Given the description of an element on the screen output the (x, y) to click on. 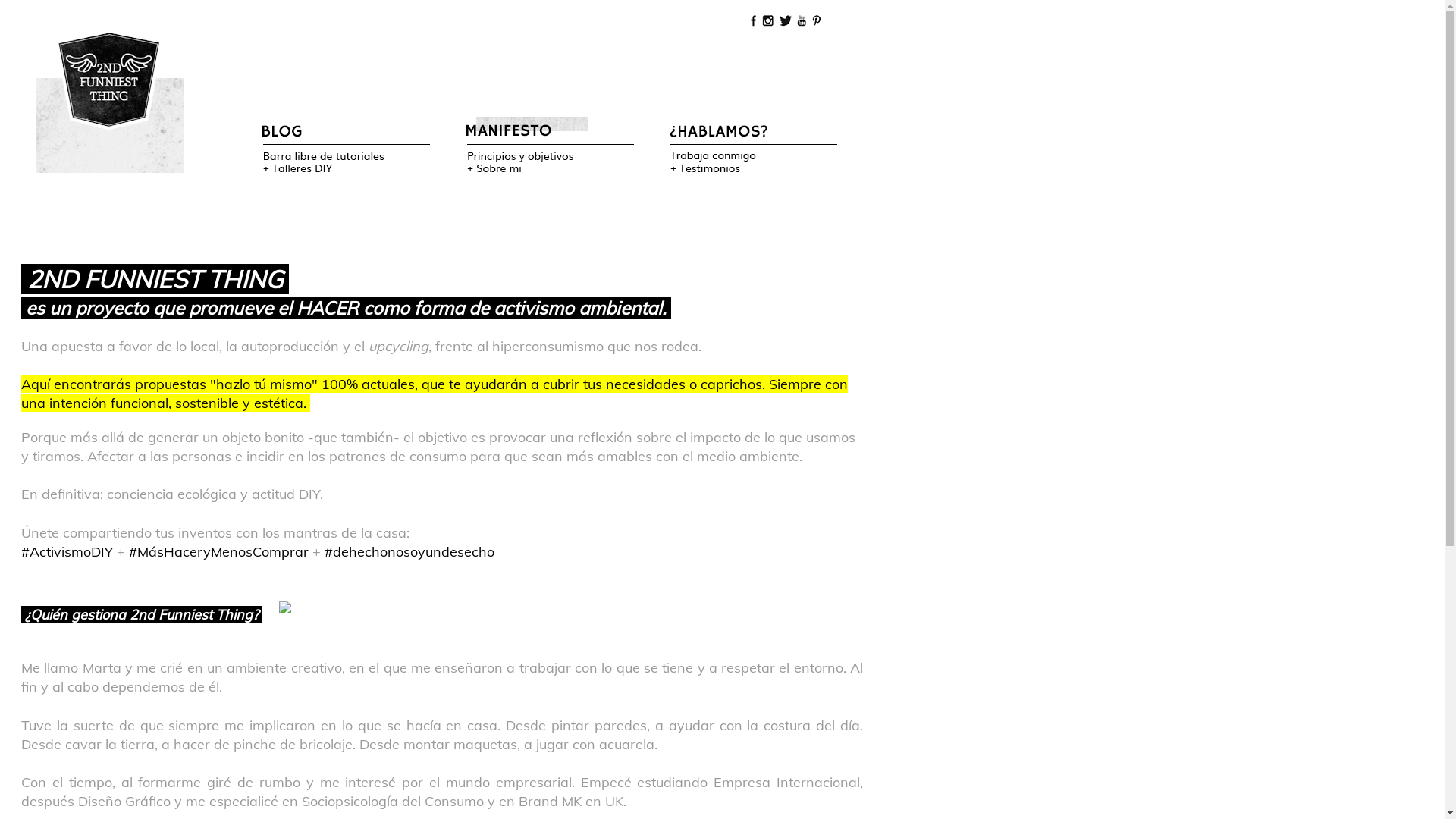
#ActivismoDIY Element type: text (66, 551)
#dehechonosoyundesecho Element type: text (409, 551)
